Given the description of an element on the screen output the (x, y) to click on. 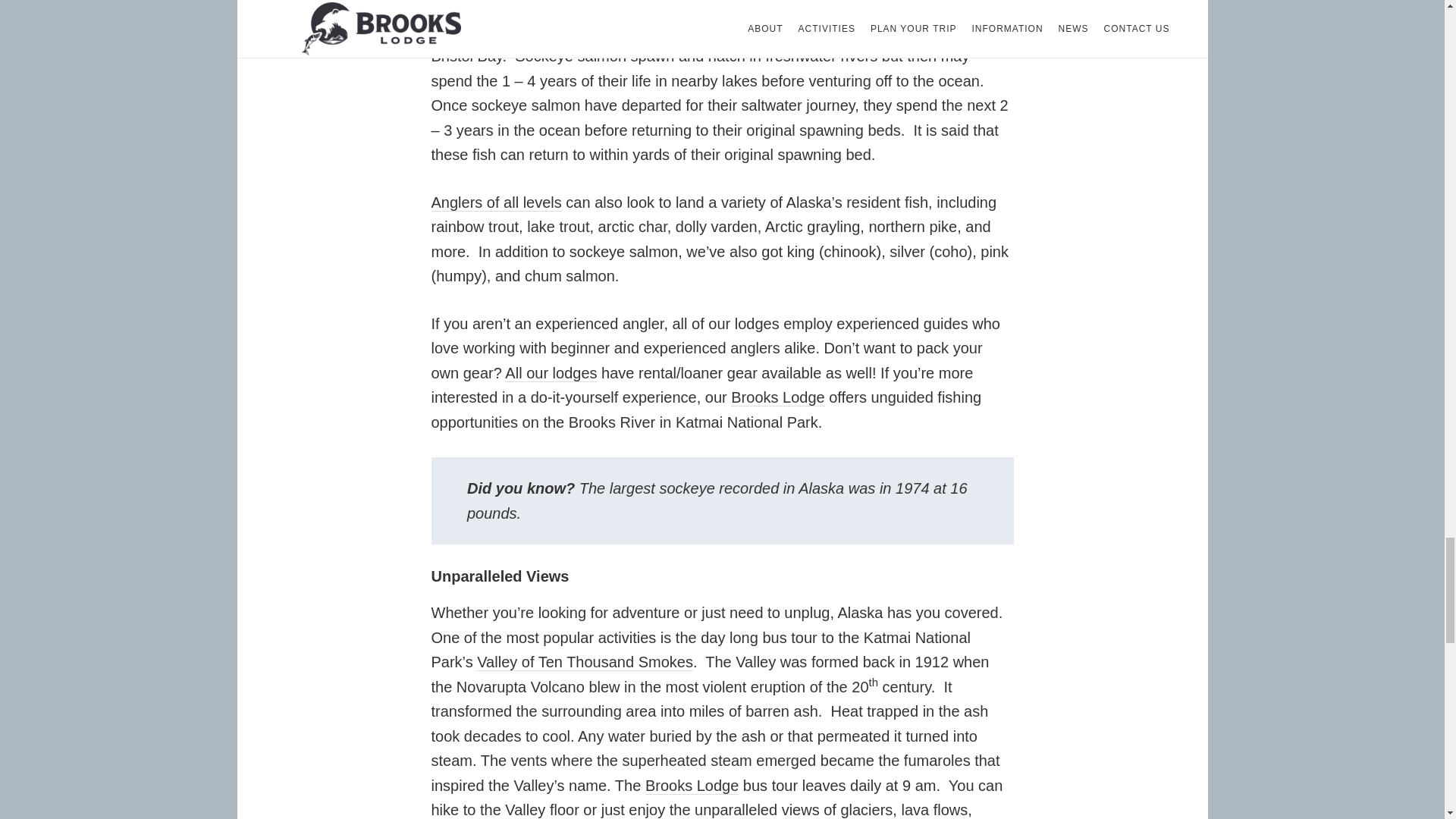
The Lodge (691, 785)
Brooks Lodge (691, 785)
Valley of Ten Thousand Smokes (585, 661)
Brooks Lodge (777, 397)
The Valley of Ten Thousand Smokes (585, 661)
Sport Fishing (495, 202)
Anglers of all levels (495, 202)
All our lodges (550, 373)
